Given the description of an element on the screen output the (x, y) to click on. 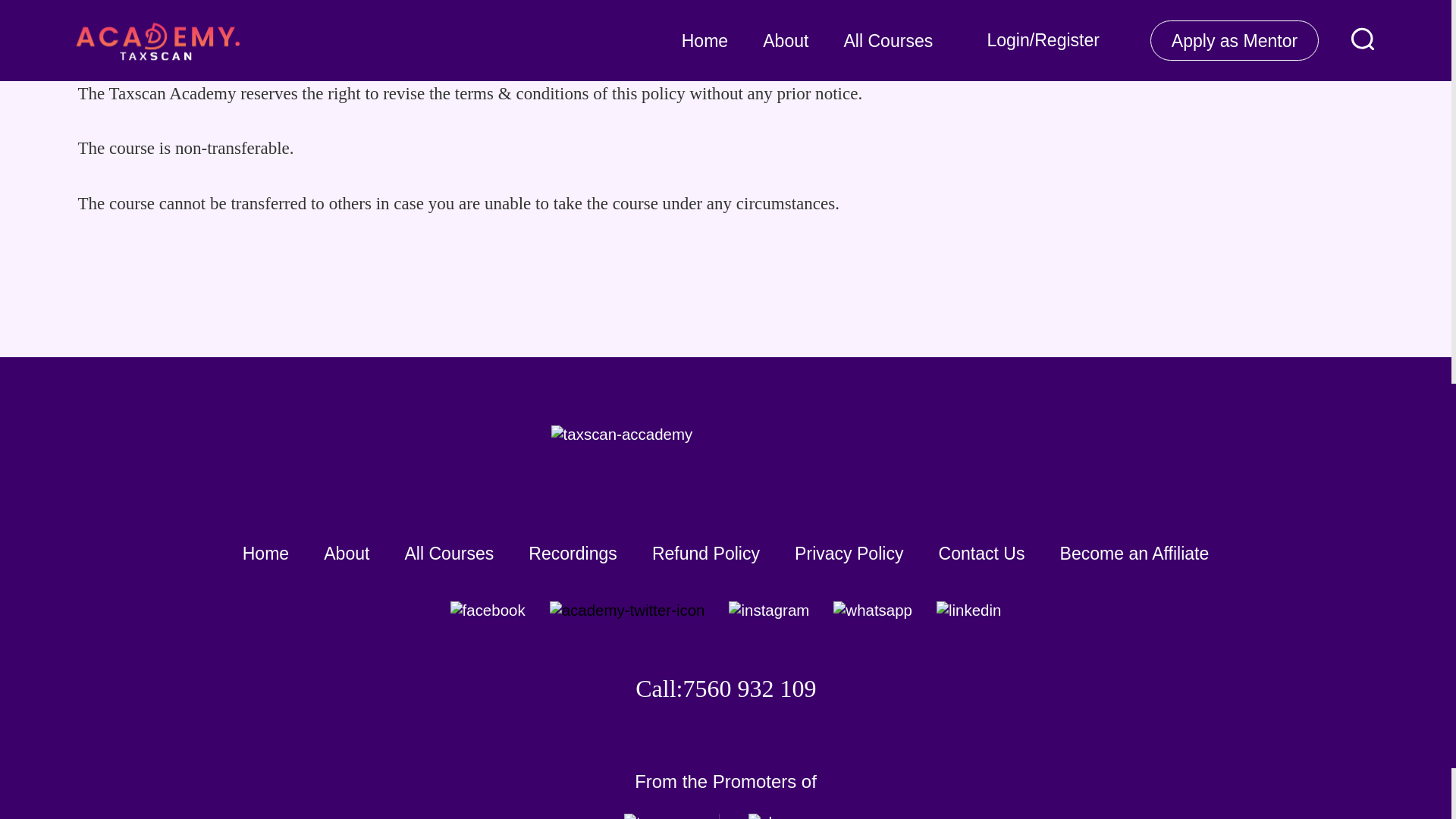
All Courses (448, 553)
Recordings (572, 553)
Become an Affiliate (1134, 553)
Privacy Policy (848, 553)
Home (265, 553)
About (346, 553)
Contact Us (982, 553)
Call:7560 932 109 (724, 688)
Refund Policy (706, 553)
